Given the description of an element on the screen output the (x, y) to click on. 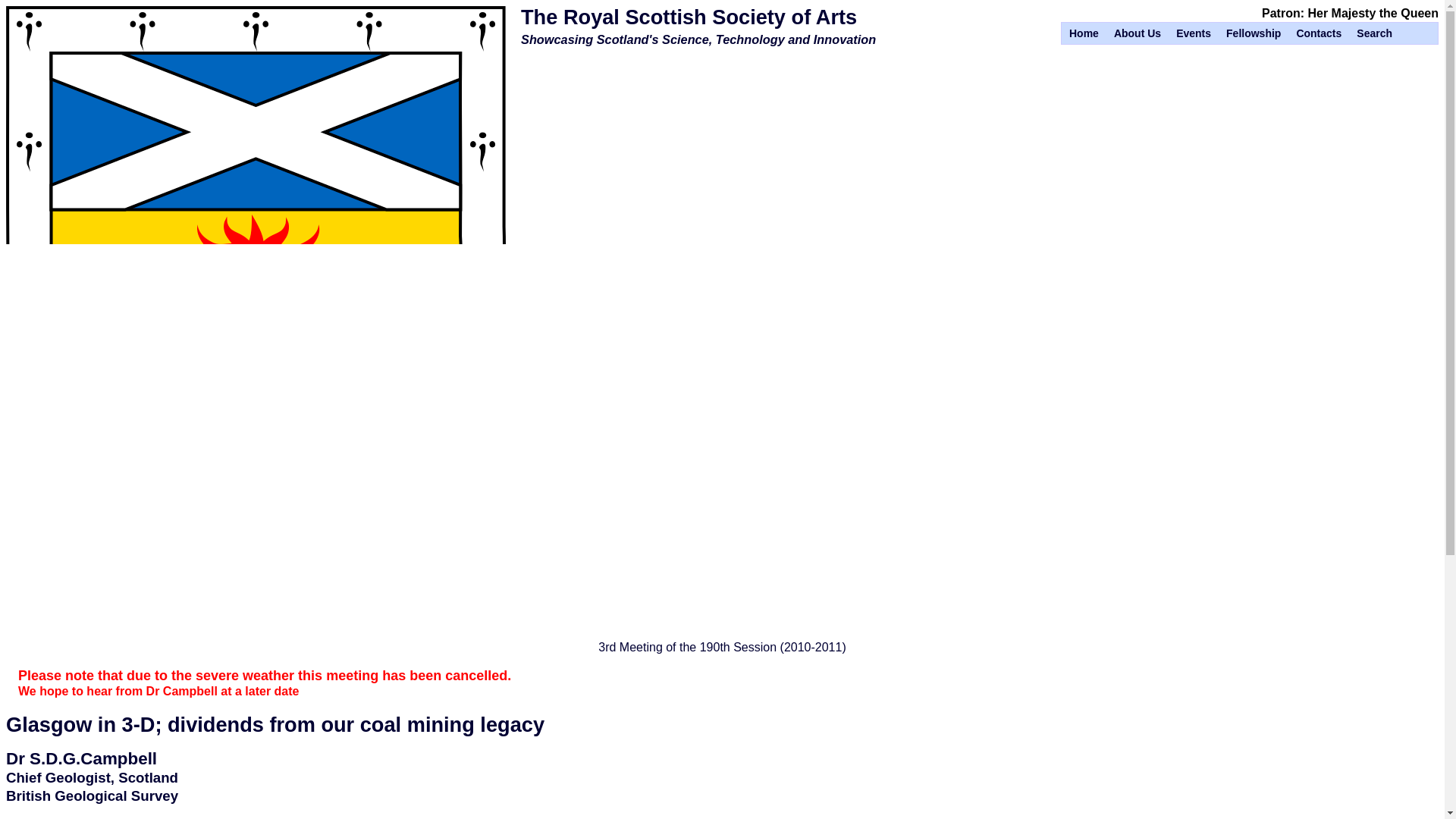
Search this website (1373, 33)
About Us (1136, 33)
About Us. (1136, 33)
Search (1373, 33)
Contacts (1317, 33)
Home (1083, 33)
Fellowship (1253, 33)
Fellowship. (1253, 33)
Contacts (1317, 33)
Home Page. (1083, 33)
Events. (1193, 33)
Events (1193, 33)
